Given the description of an element on the screen output the (x, y) to click on. 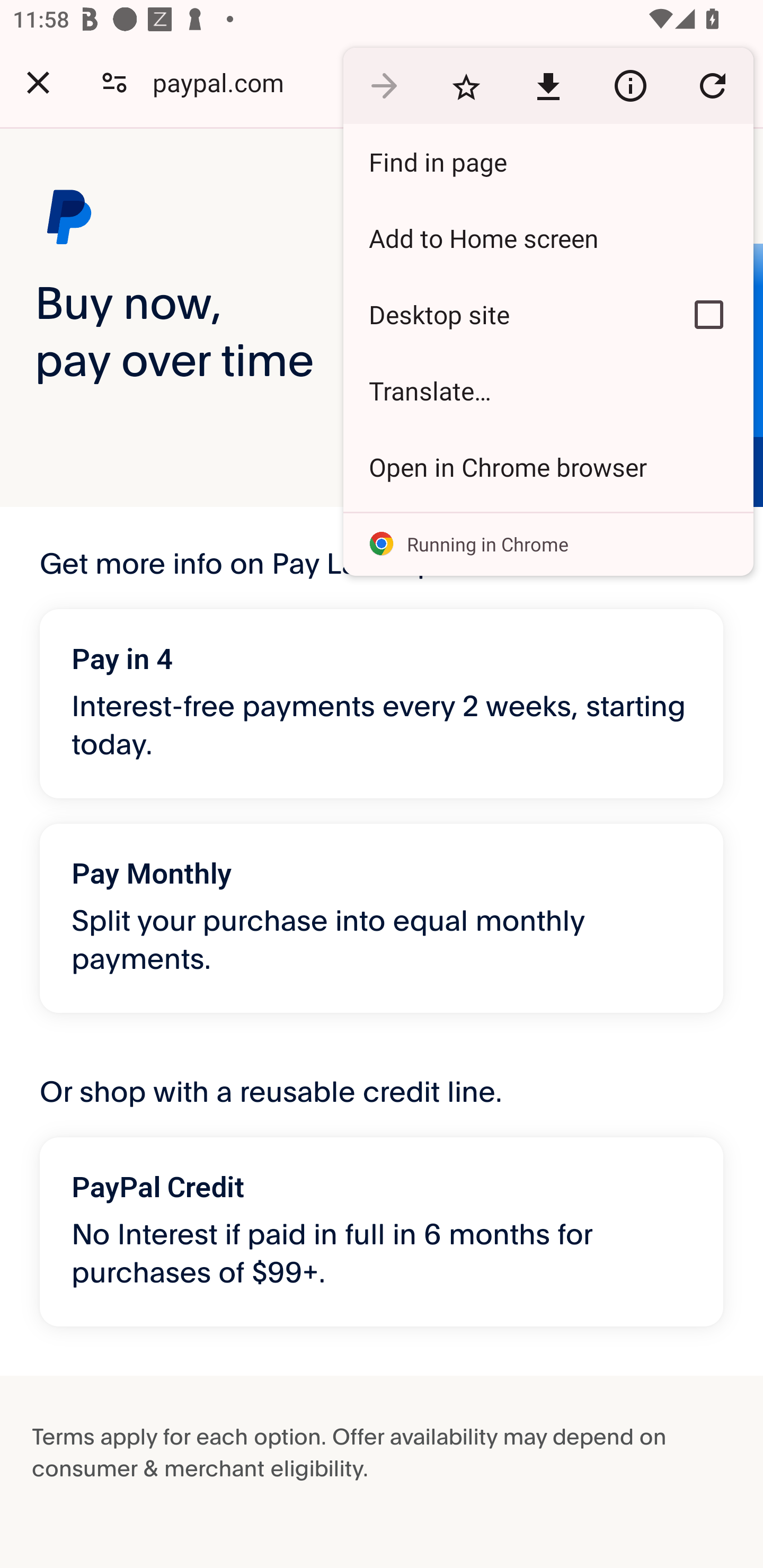
Go forward (383, 85)
Bookmark (465, 85)
Download this page (548, 85)
View site information (630, 85)
Refresh (712, 85)
Find in page (548, 161)
Add to Home screen (548, 237)
Desktop site Turn on Request desktop site (503, 313)
Translate… (548, 390)
Open in Chrome browser (548, 466)
